Given the description of an element on the screen output the (x, y) to click on. 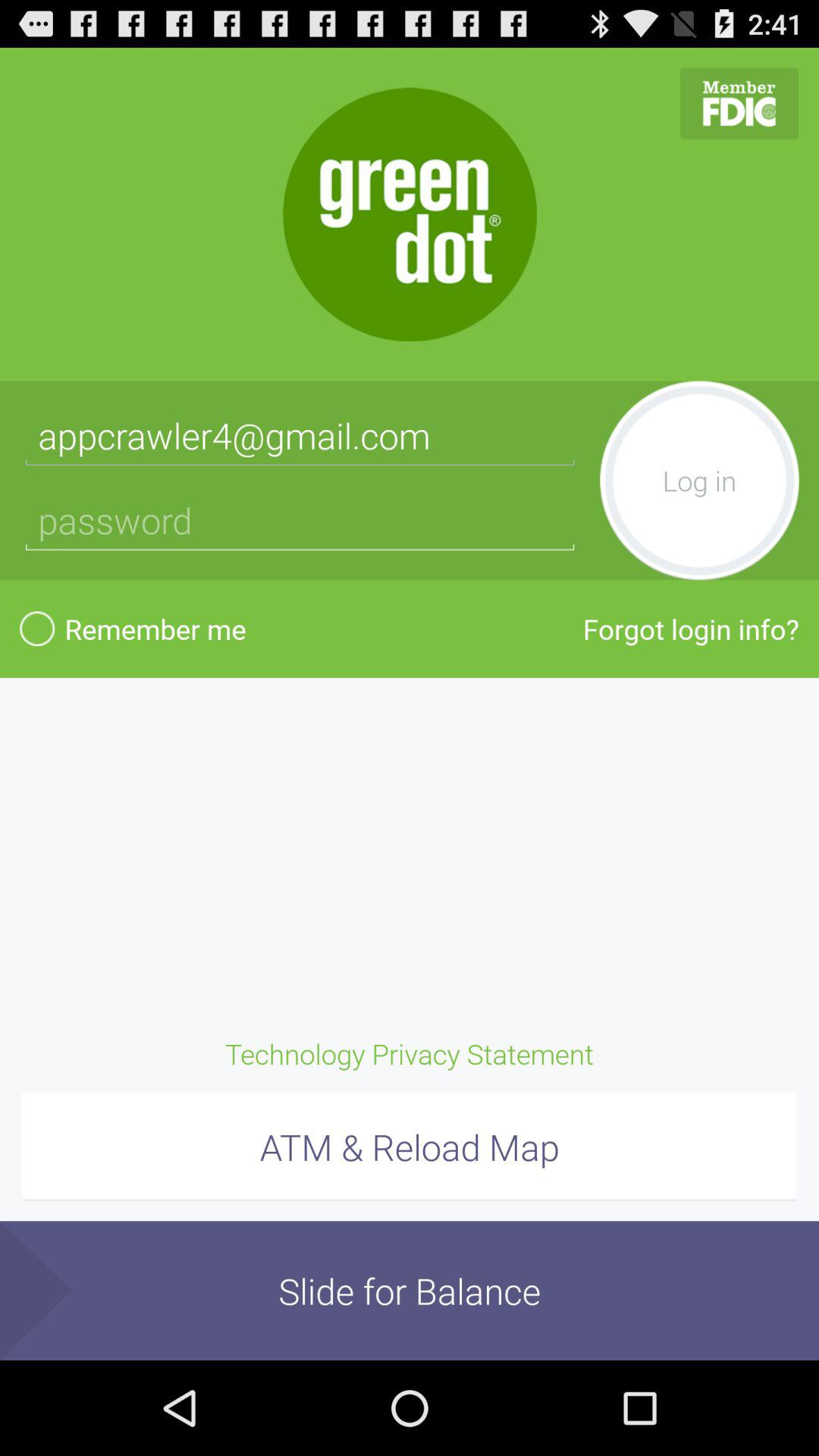
auto fill the password (299, 520)
